Given the description of an element on the screen output the (x, y) to click on. 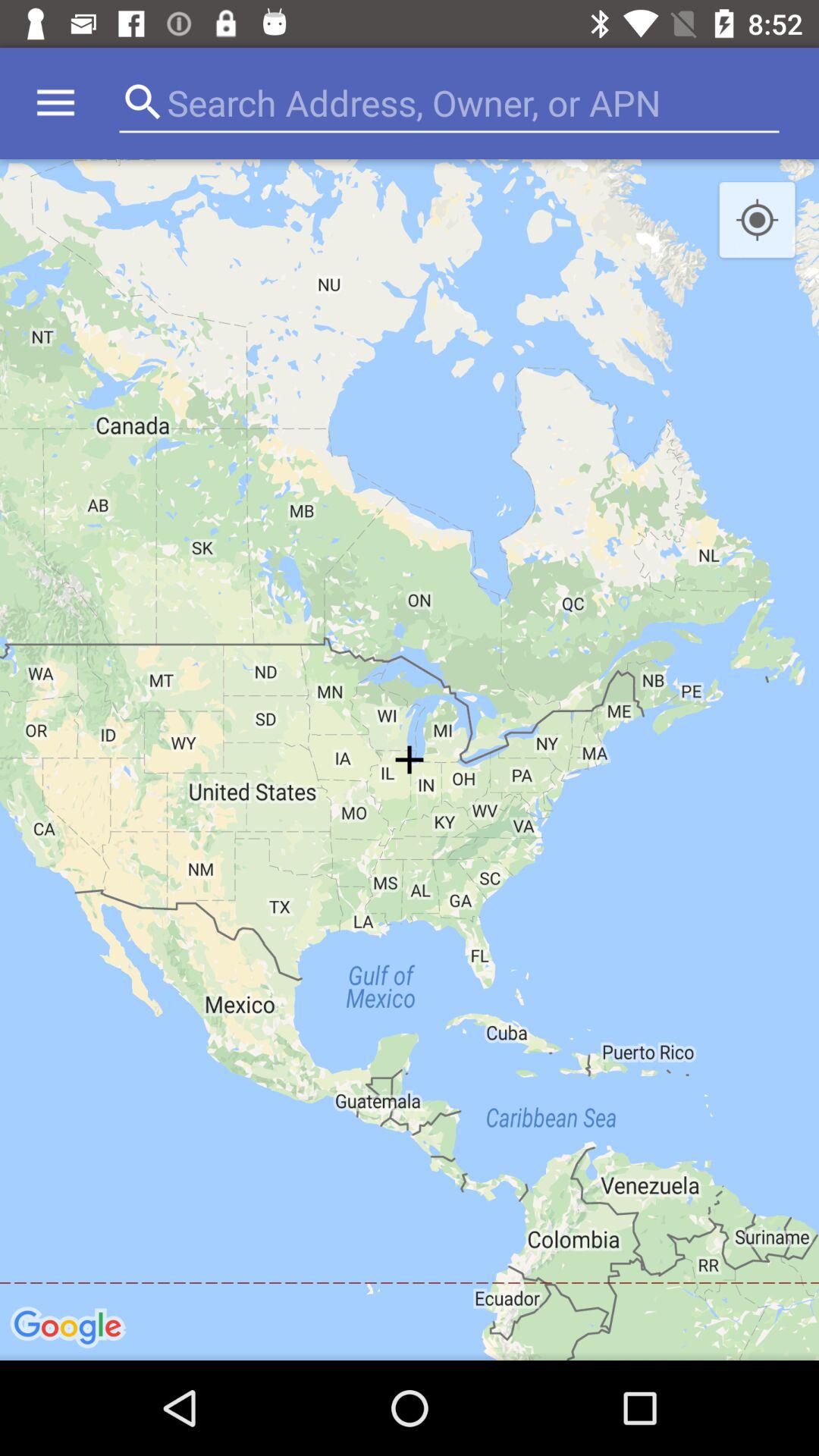
select the icon at the top right corner (757, 220)
